Given the description of an element on the screen output the (x, y) to click on. 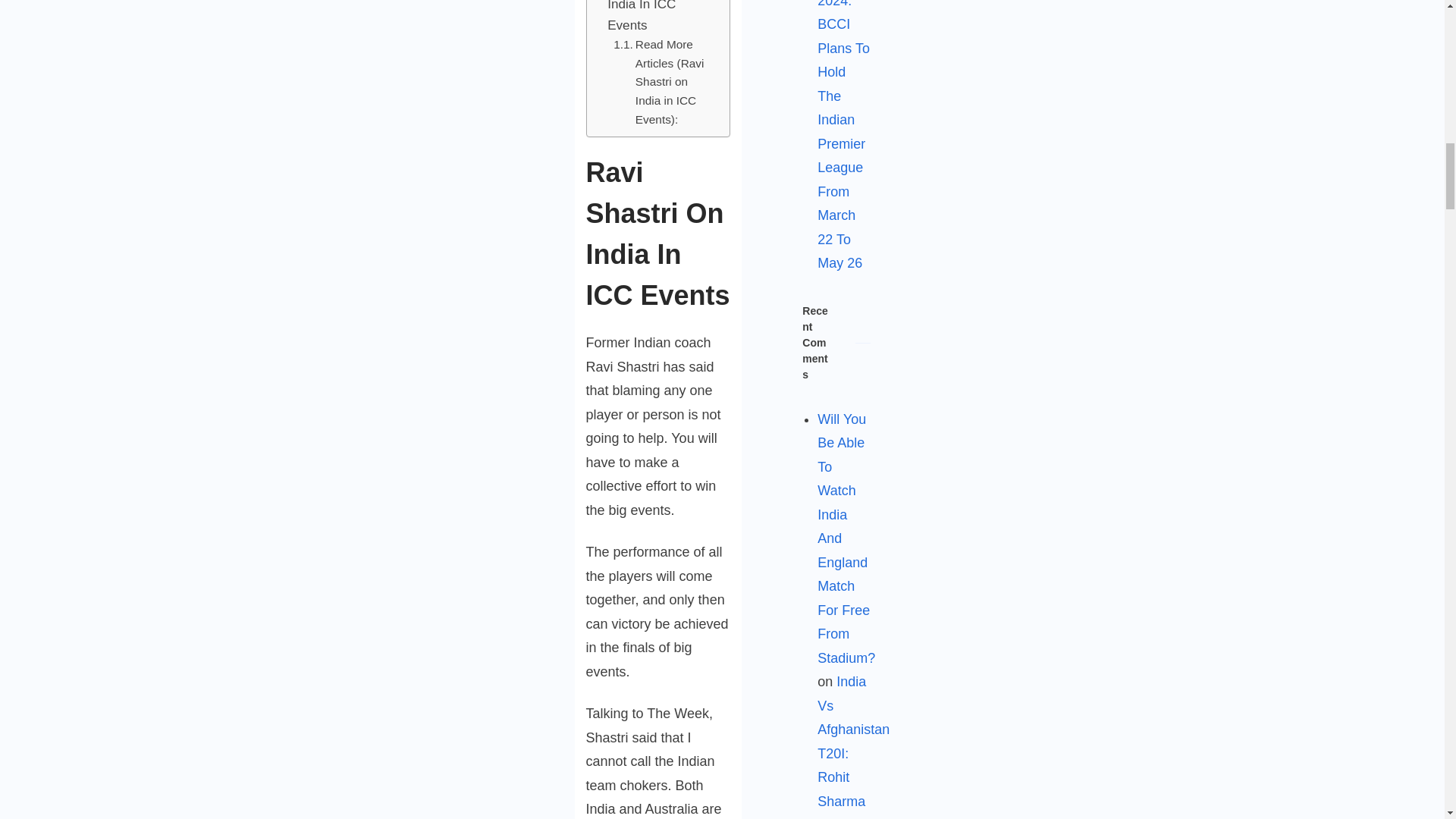
Ravi Shastri On India In ICC Events (654, 18)
Ravi Shastri On India In ICC Events (654, 18)
